Given the description of an element on the screen output the (x, y) to click on. 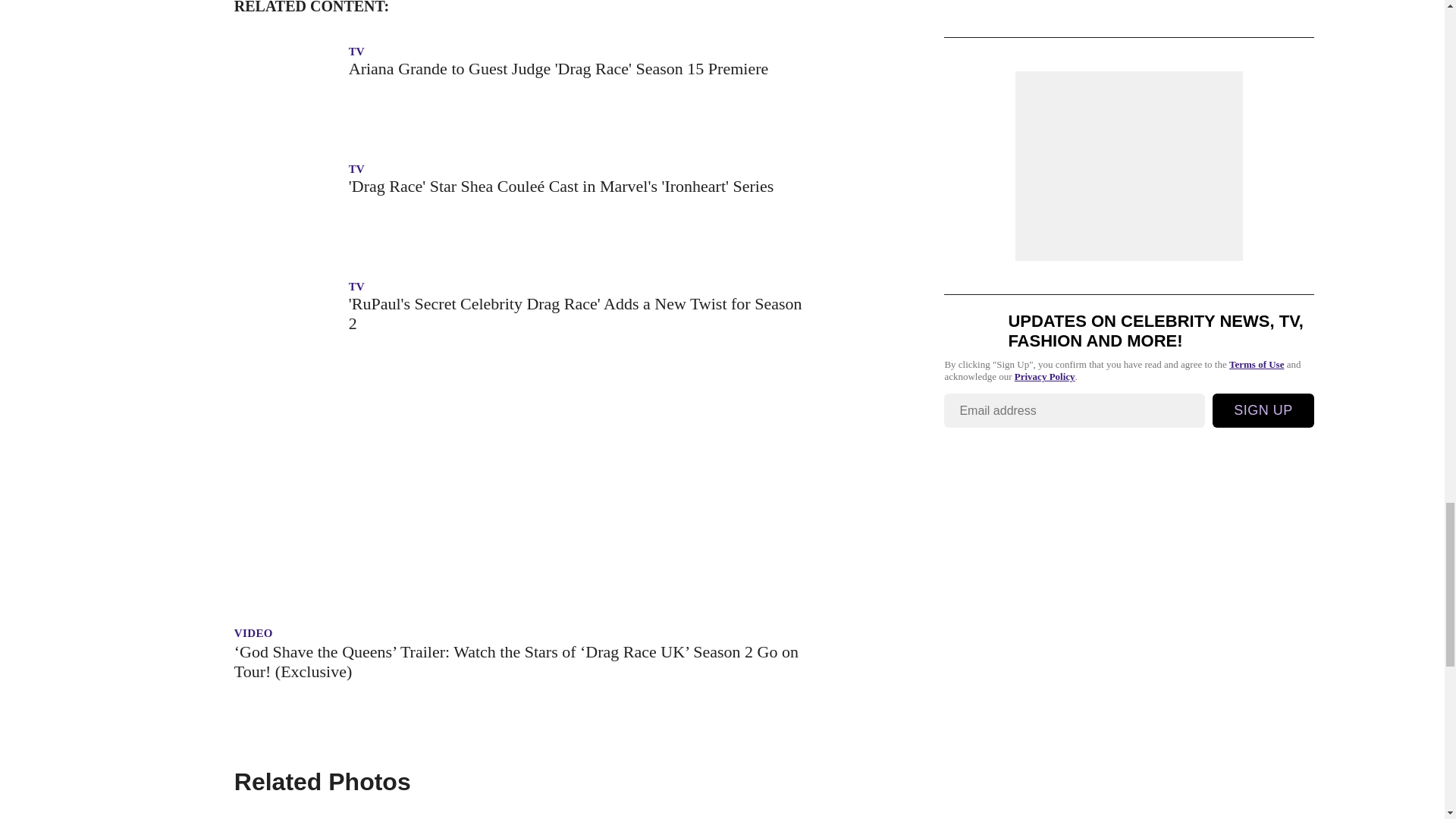
85 Photos (519, 813)
